Given the description of an element on the screen output the (x, y) to click on. 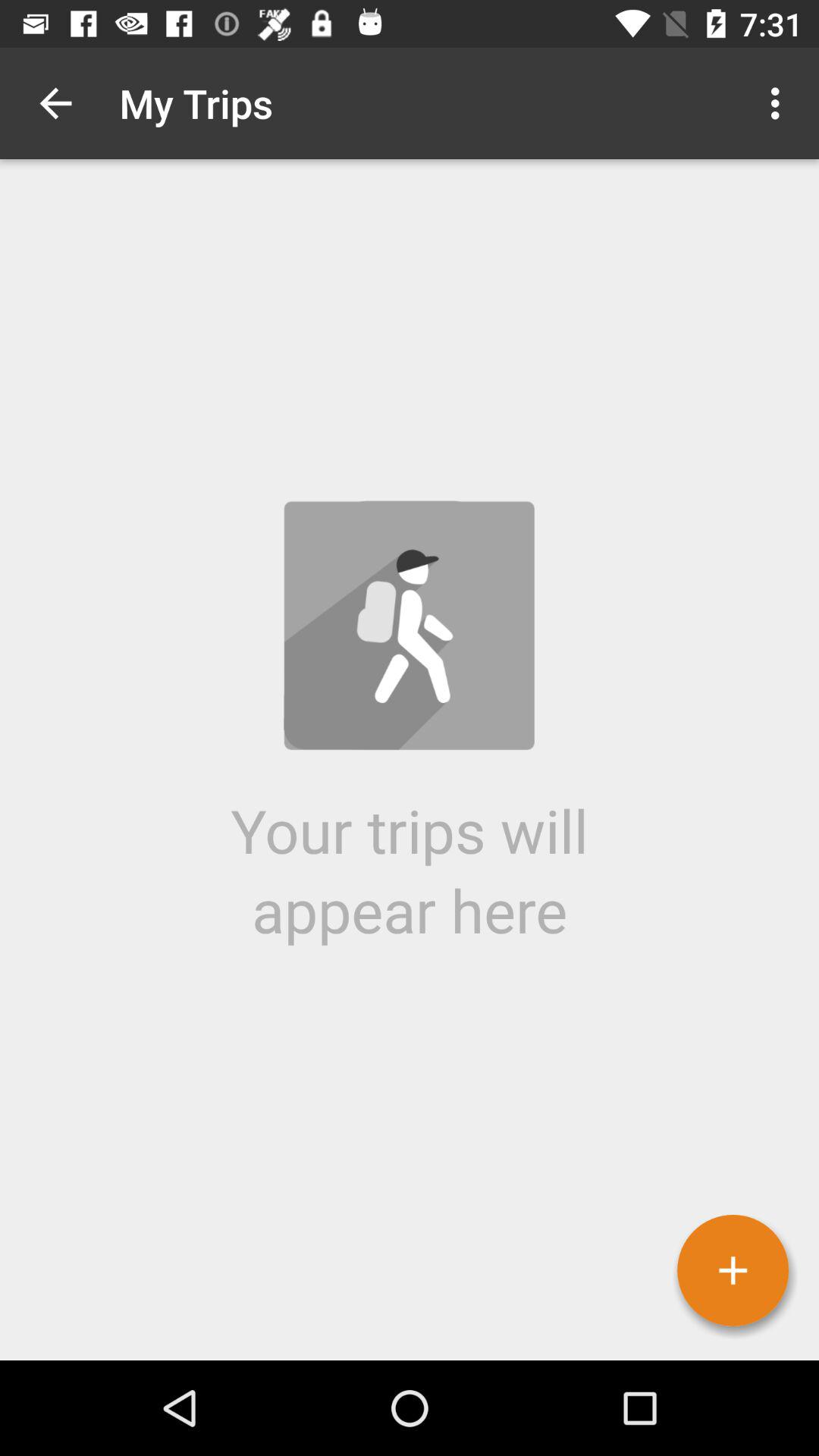
press item to the right of my trips icon (779, 103)
